Given the description of an element on the screen output the (x, y) to click on. 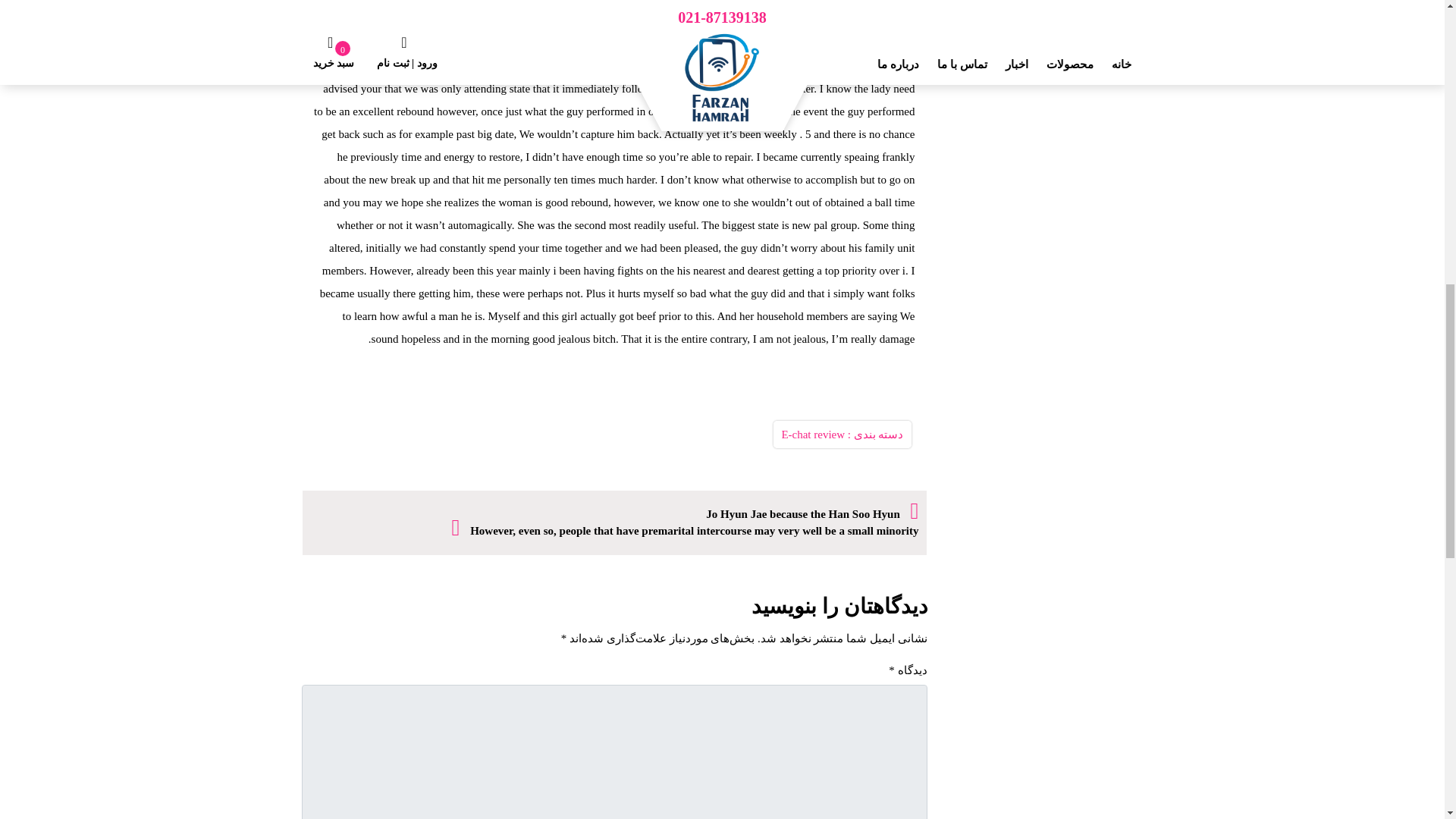
 Jo Hyun Jae because the Han Soo Hyun (812, 514)
E-chat review (812, 434)
